Given the description of an element on the screen output the (x, y) to click on. 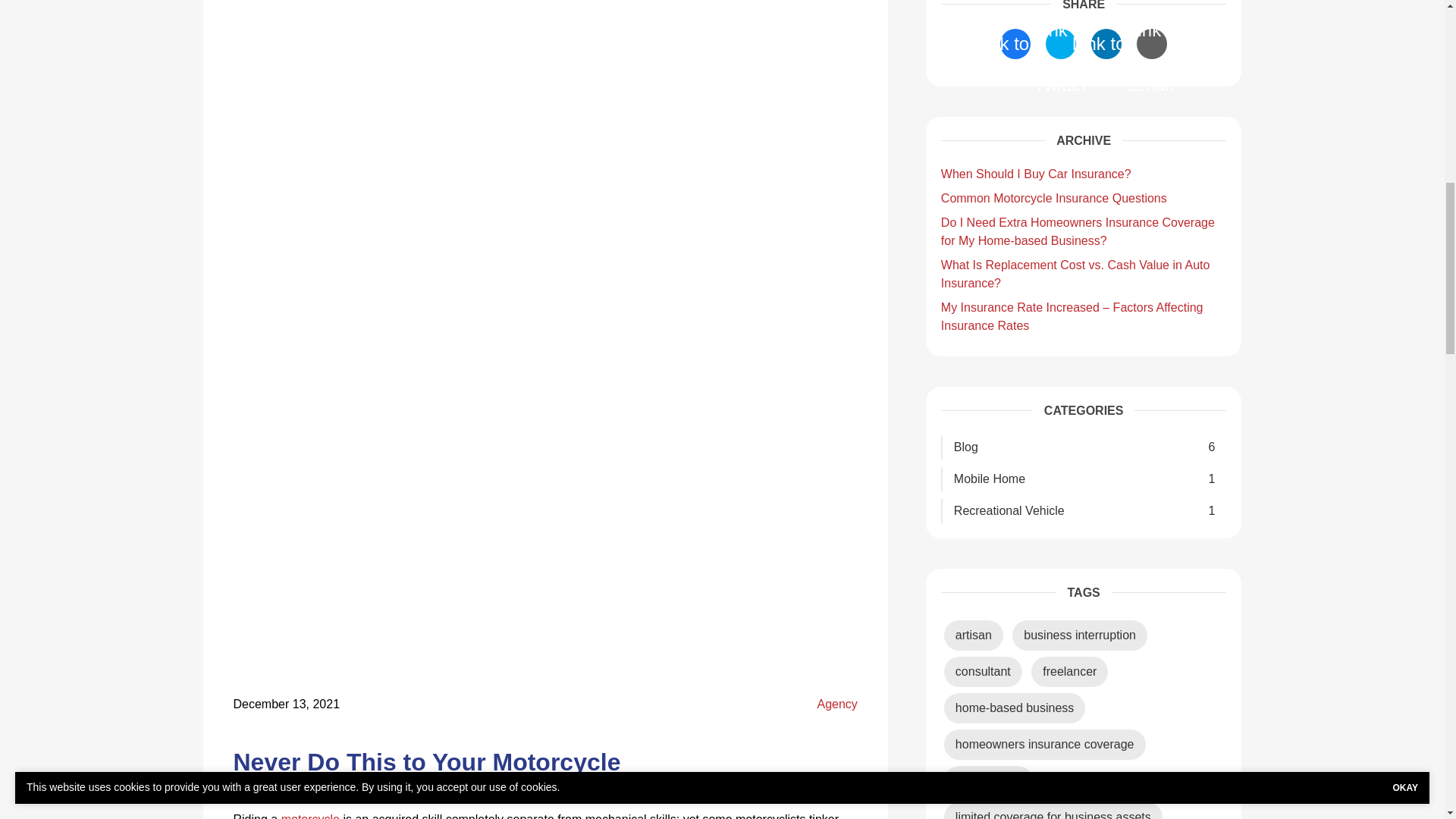
Agency (836, 704)
